Given the description of an element on the screen output the (x, y) to click on. 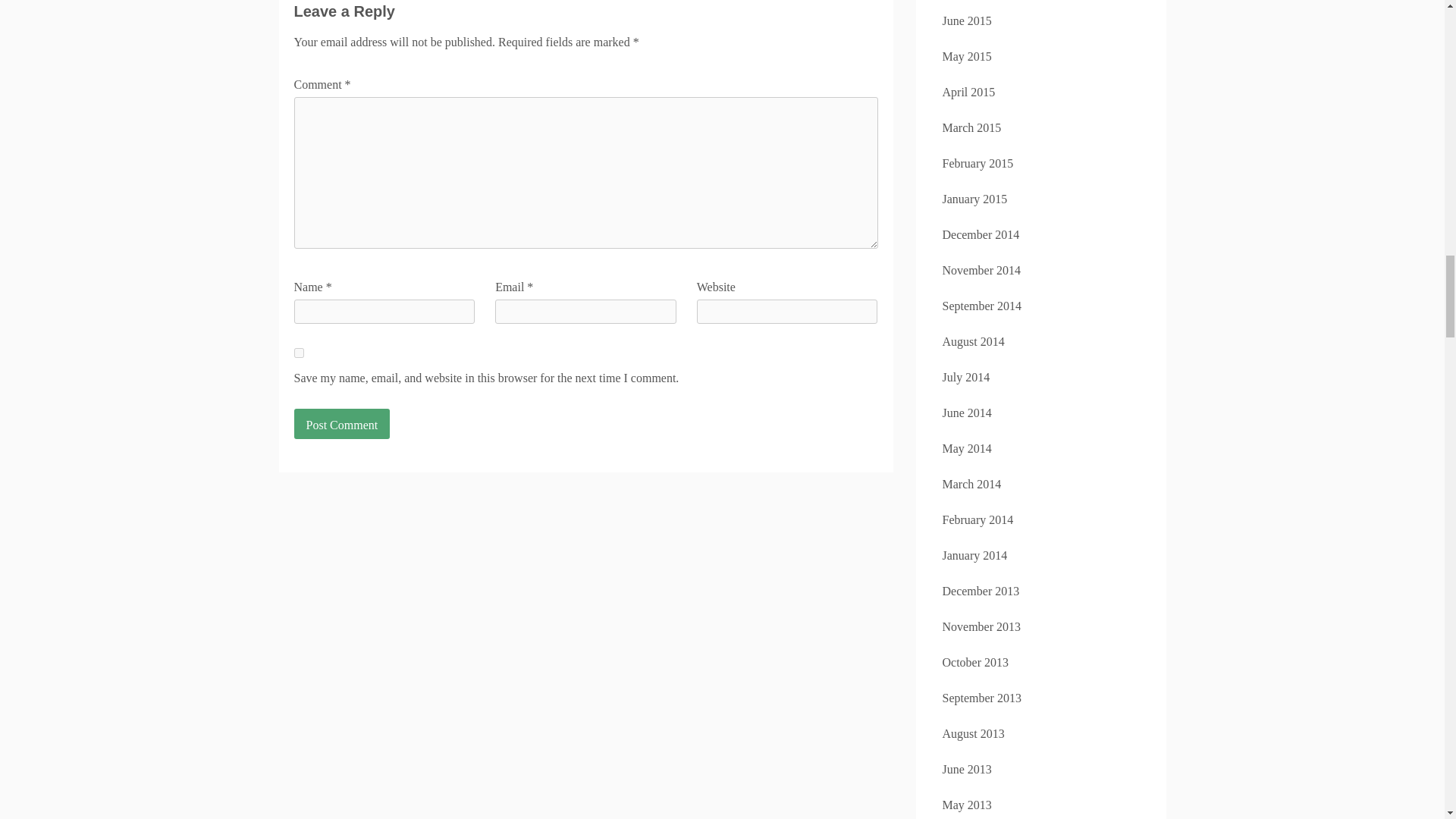
Post Comment (342, 423)
yes (299, 352)
Post Comment (342, 423)
